Given the description of an element on the screen output the (x, y) to click on. 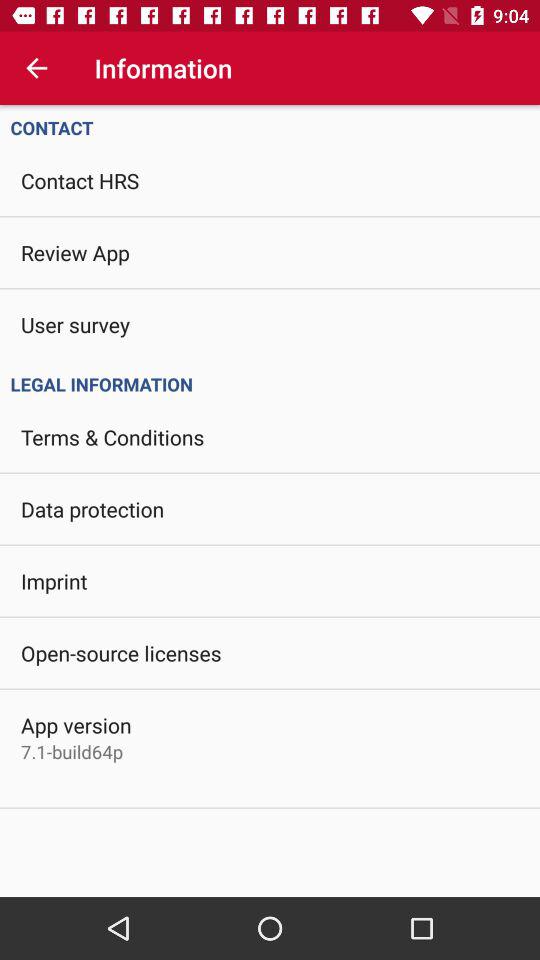
tap item to the left of the information item (36, 68)
